Given the description of an element on the screen output the (x, y) to click on. 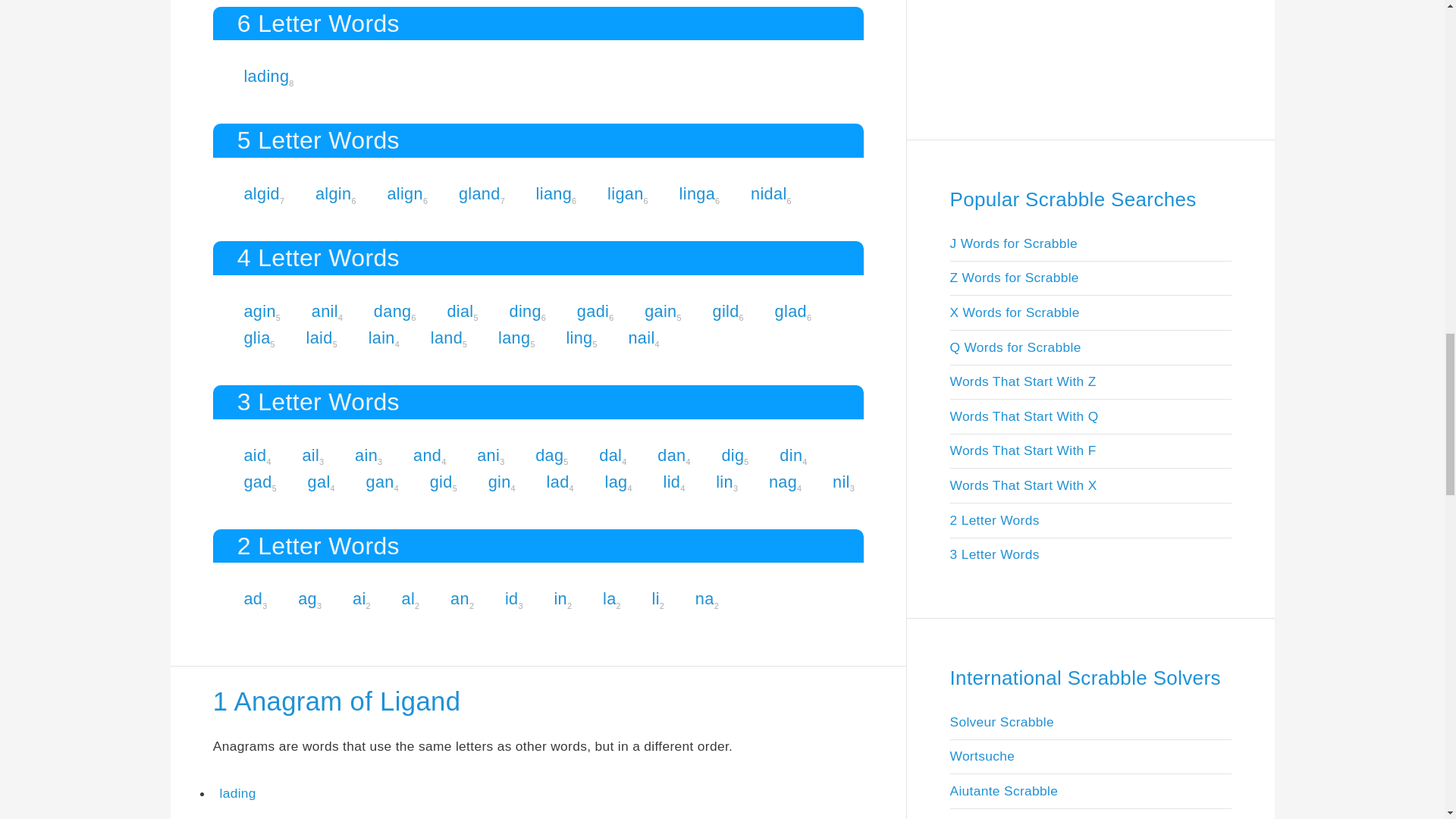
lading (265, 75)
algin (333, 193)
algid (261, 193)
align (405, 193)
